Given the description of an element on the screen output the (x, y) to click on. 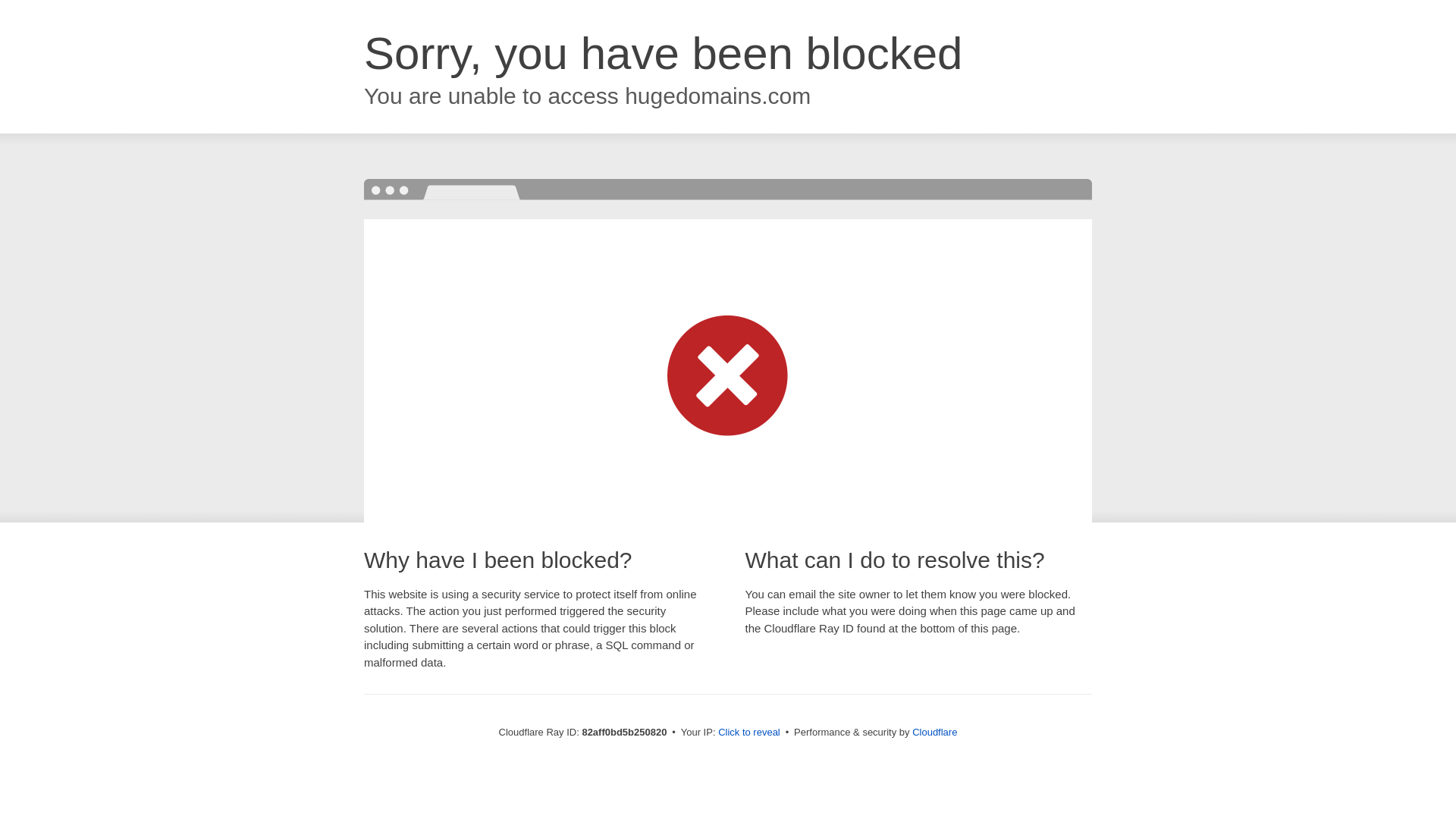
Cloudflare Element type: text (934, 731)
Click to reveal Element type: text (749, 732)
